Given the description of an element on the screen output the (x, y) to click on. 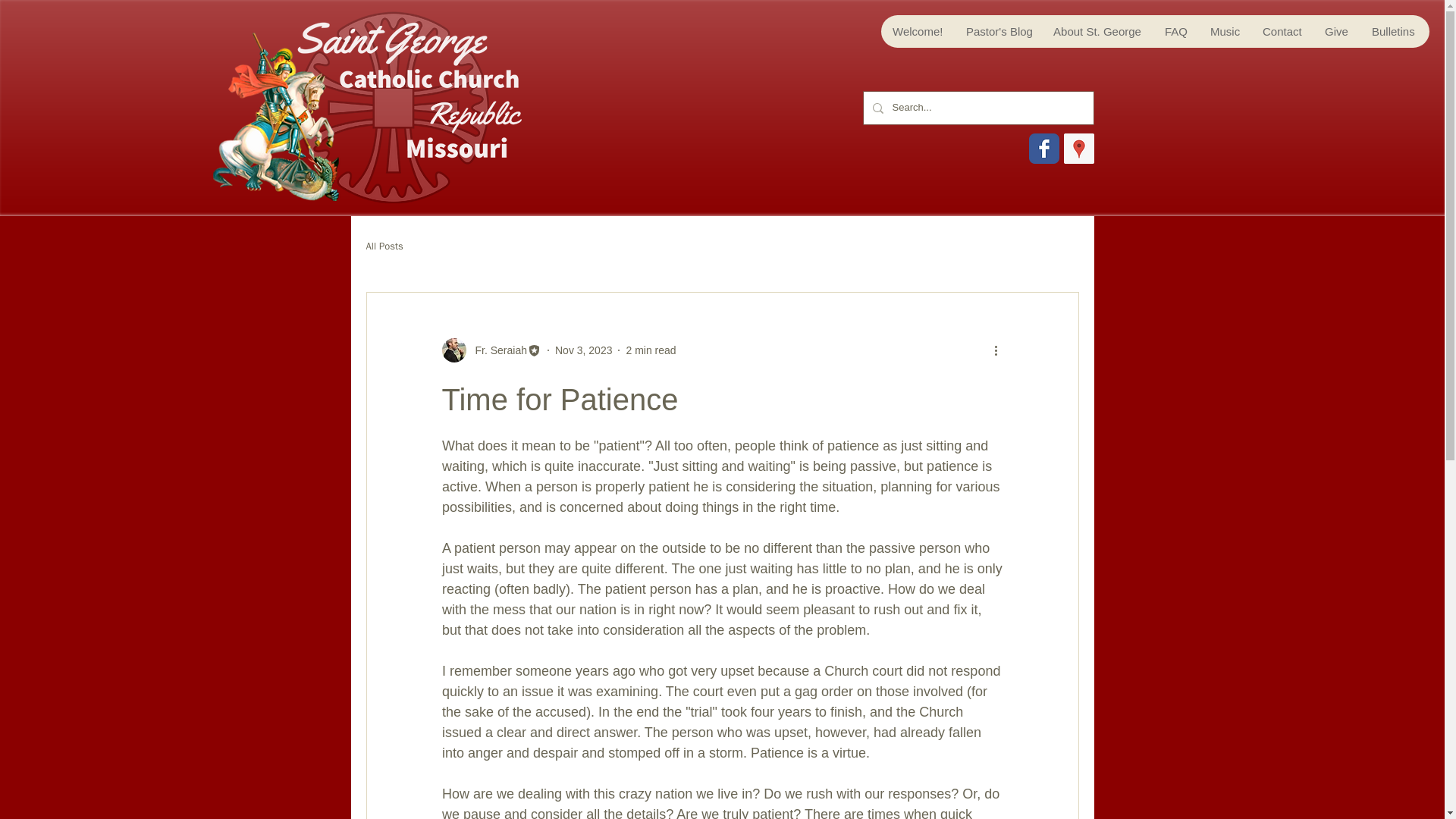
Contact (1281, 31)
Music (1224, 31)
Welcome! (916, 31)
2 min read (650, 349)
All Posts (384, 246)
Nov 3, 2023 (583, 349)
FAQ (1175, 31)
Pastor's Blog (997, 31)
Bulletins (1391, 31)
Fr. Seraiah (495, 350)
